Given the description of an element on the screen output the (x, y) to click on. 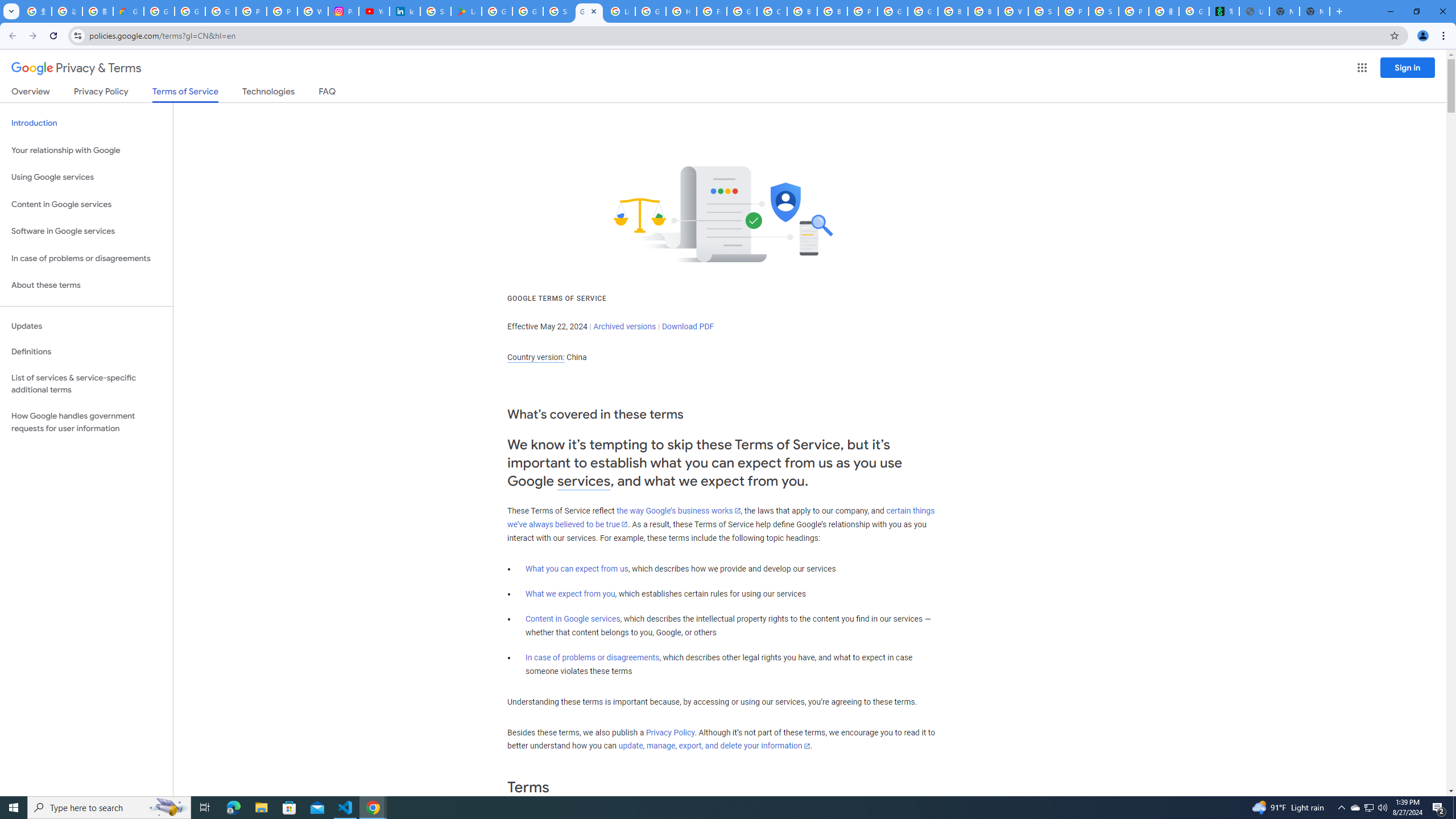
Using Google services (86, 176)
Google Workspace - Specific Terms (527, 11)
Last Shelter: Survival - Apps on Google Play (465, 11)
Country version: (535, 357)
What we expect from you (570, 593)
YouTube Culture & Trends - On The Rise: Handcam Videos (373, 11)
